Given the description of an element on the screen output the (x, y) to click on. 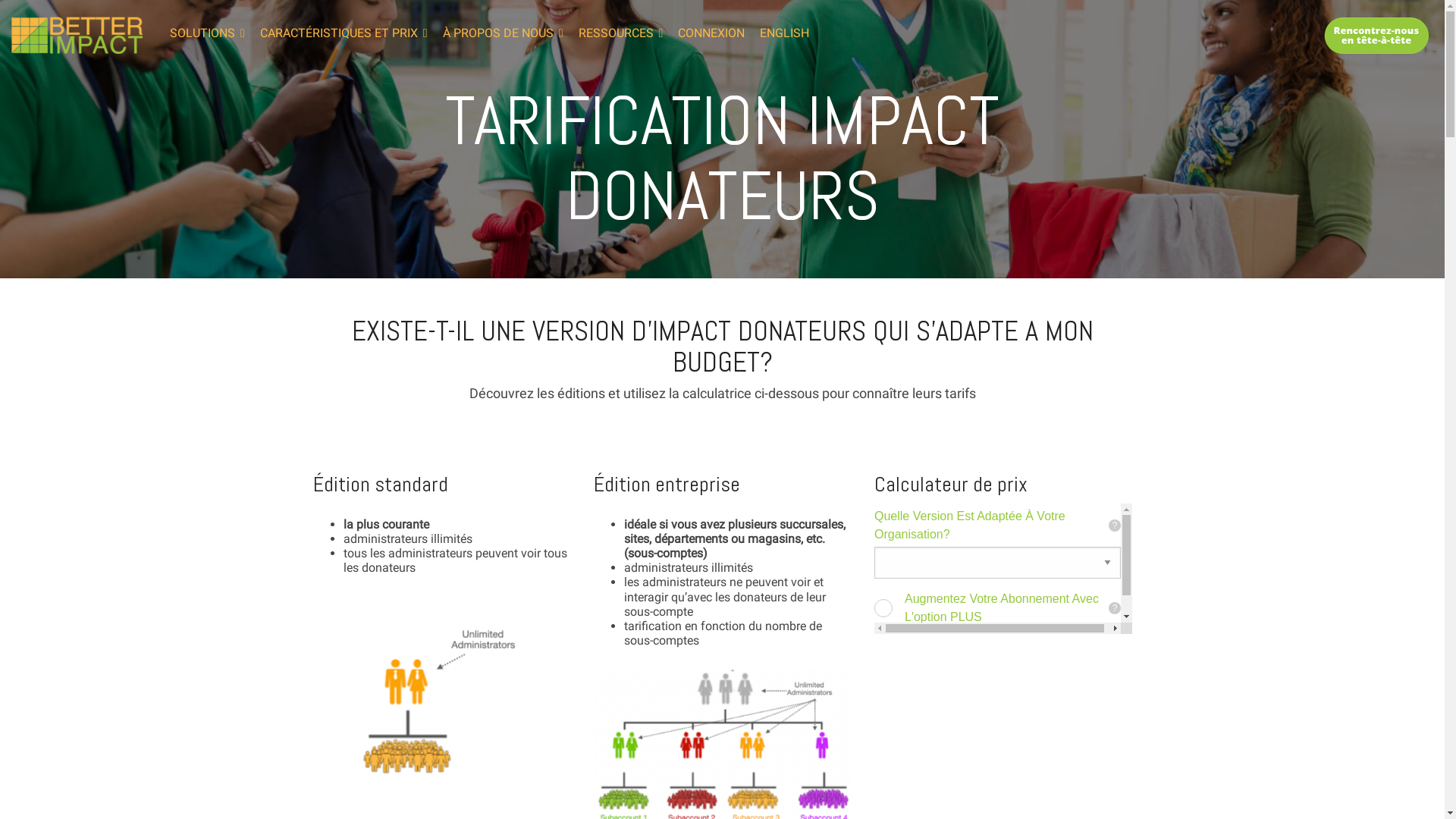
SOLUTIONS Element type: text (206, 32)
Calculator Frame Element type: hover (1002, 568)
ENGLISH Element type: text (784, 32)
CONNEXION Element type: text (710, 32)
RESSOURCES Element type: text (620, 32)
